Given the description of an element on the screen output the (x, y) to click on. 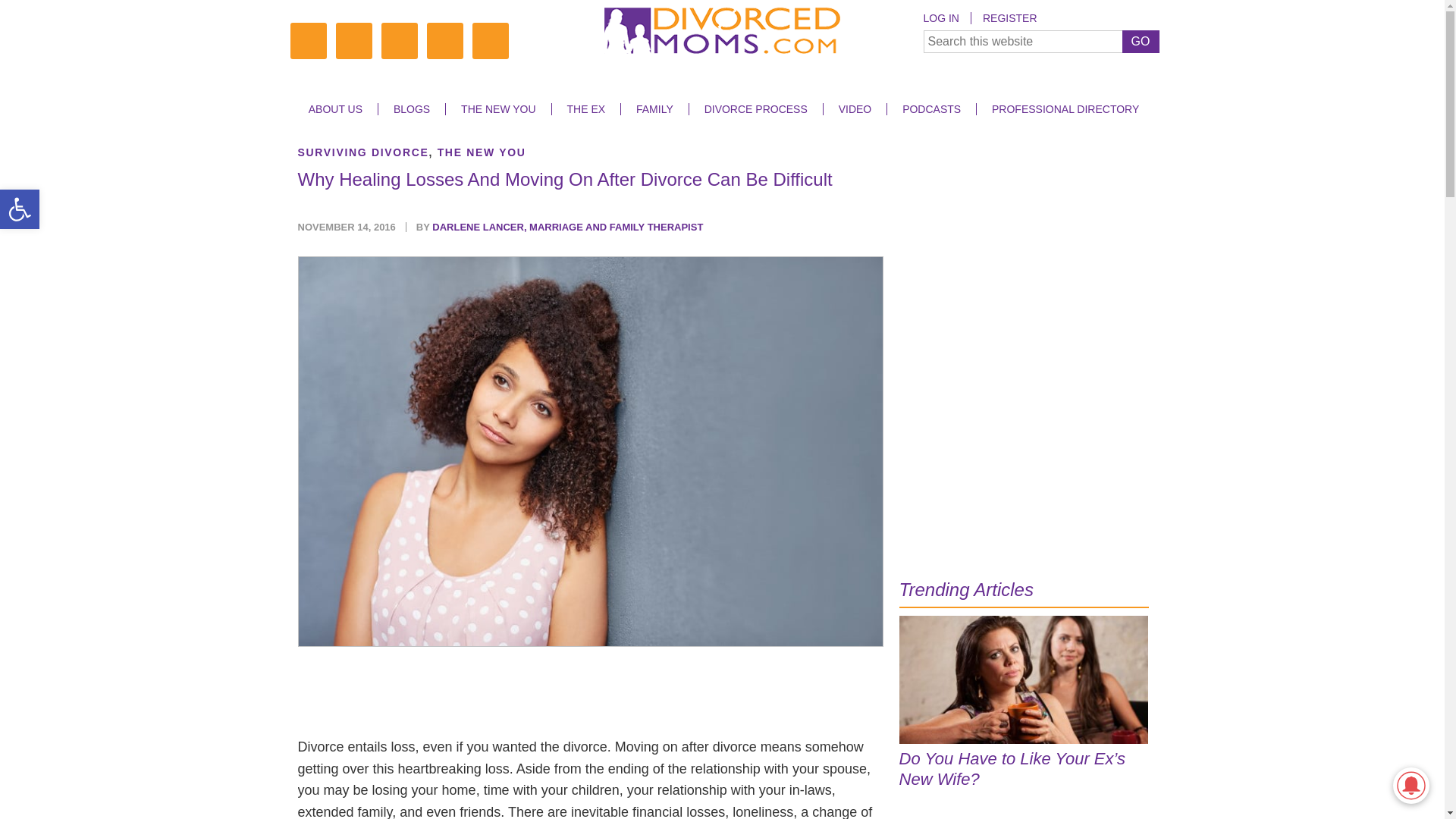
GO (1140, 41)
Search Website (1040, 41)
LOG IN (947, 18)
Open toolbar (19, 209)
BLOGS (411, 109)
Accessibility Tools (19, 209)
FAMILY (654, 109)
ABOUT US (335, 109)
Divorced Moms (721, 33)
GO (1140, 41)
THE EX (585, 109)
REGISTER (1009, 18)
GO (1140, 41)
THE NEW YOU (498, 109)
3rd party ad content (1023, 241)
